Given the description of an element on the screen output the (x, y) to click on. 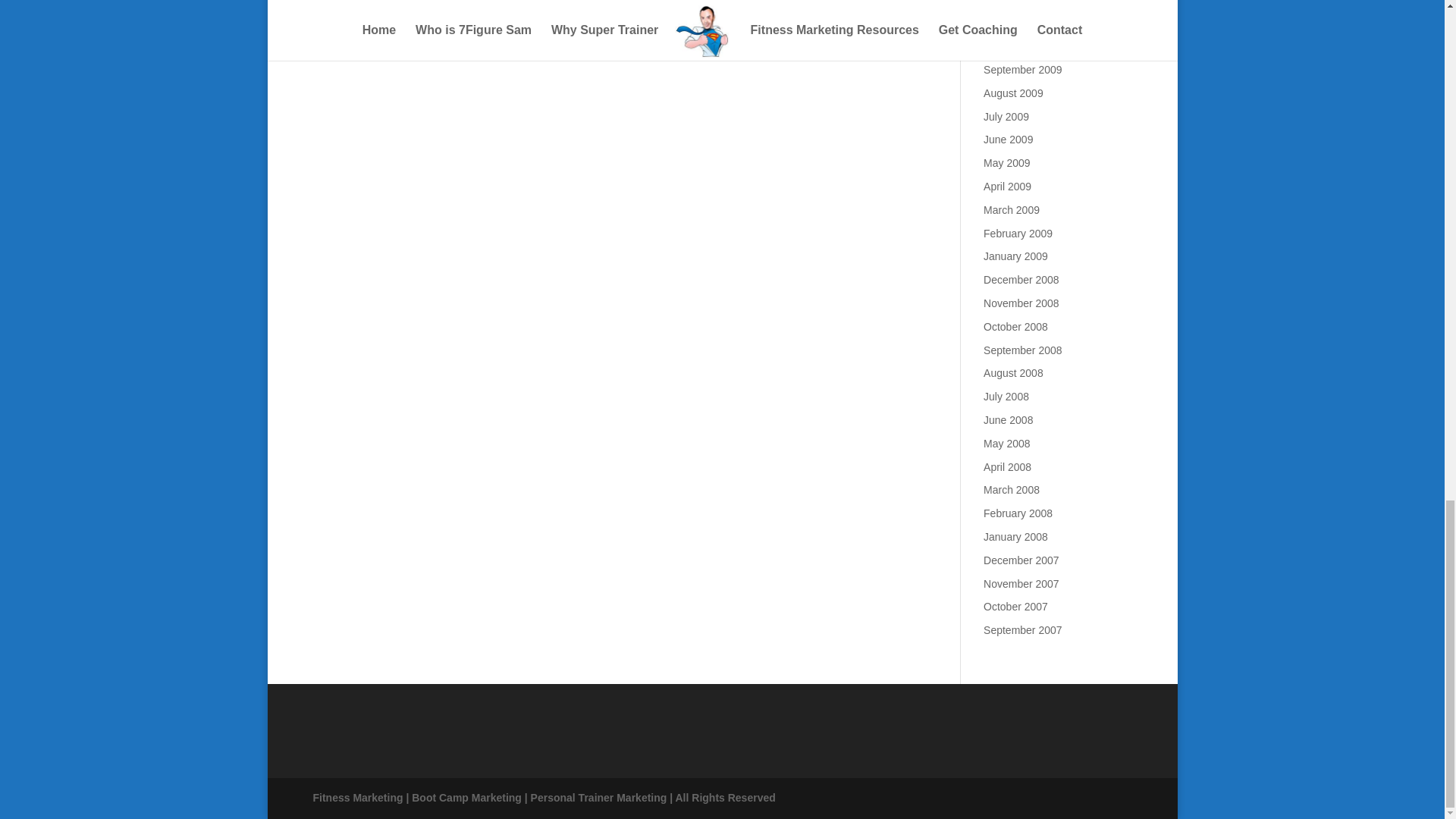
logged in (395, 6)
